Given the description of an element on the screen output the (x, y) to click on. 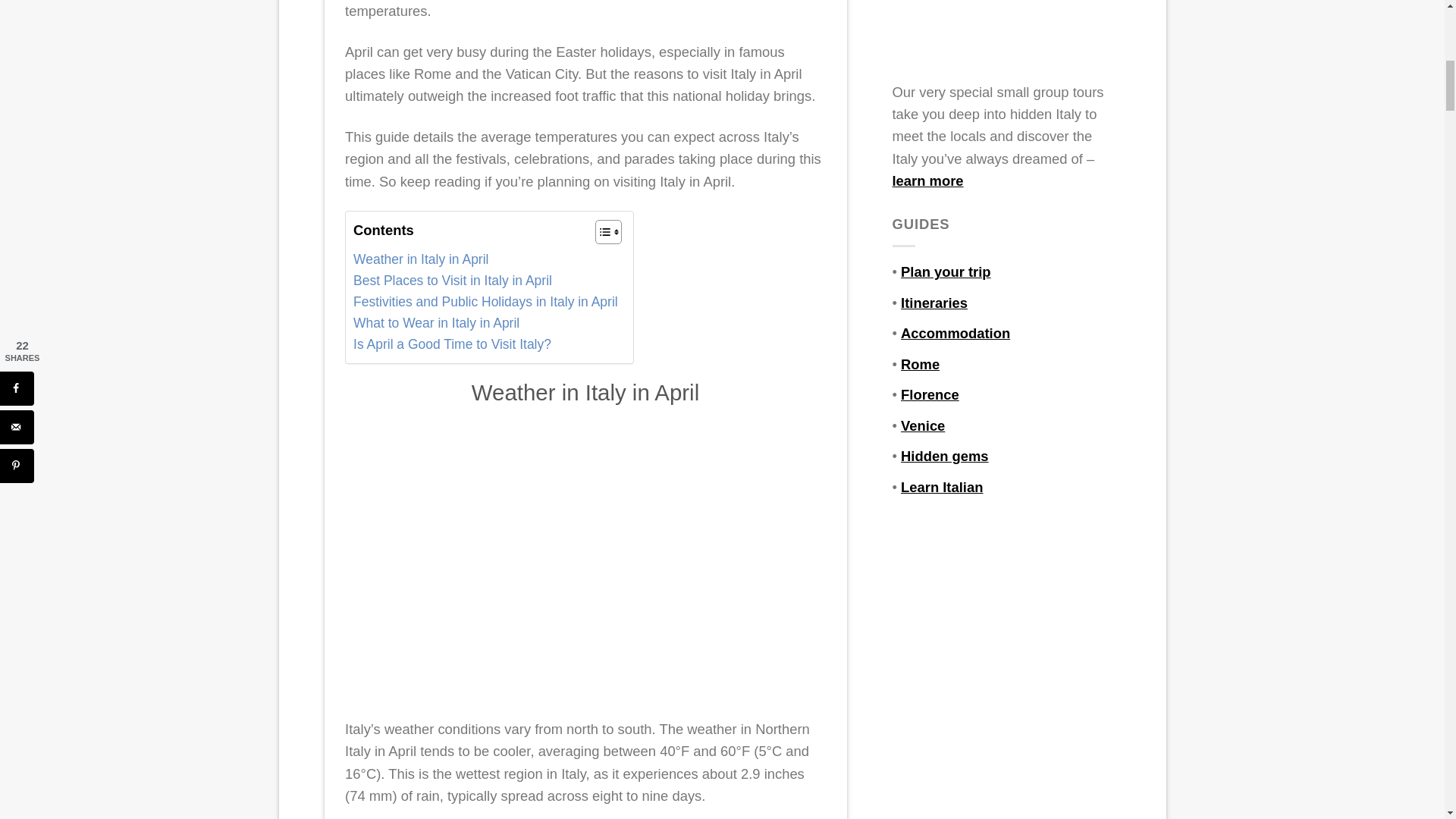
Best Places to Visit in Italy in April (452, 281)
Festivities and Public Holidays in Italy in April (485, 301)
Weather in Italy in April (420, 260)
What to Wear in Italy in April (436, 323)
Is April a Good Time to Visit Italy? (452, 344)
